Given the description of an element on the screen output the (x, y) to click on. 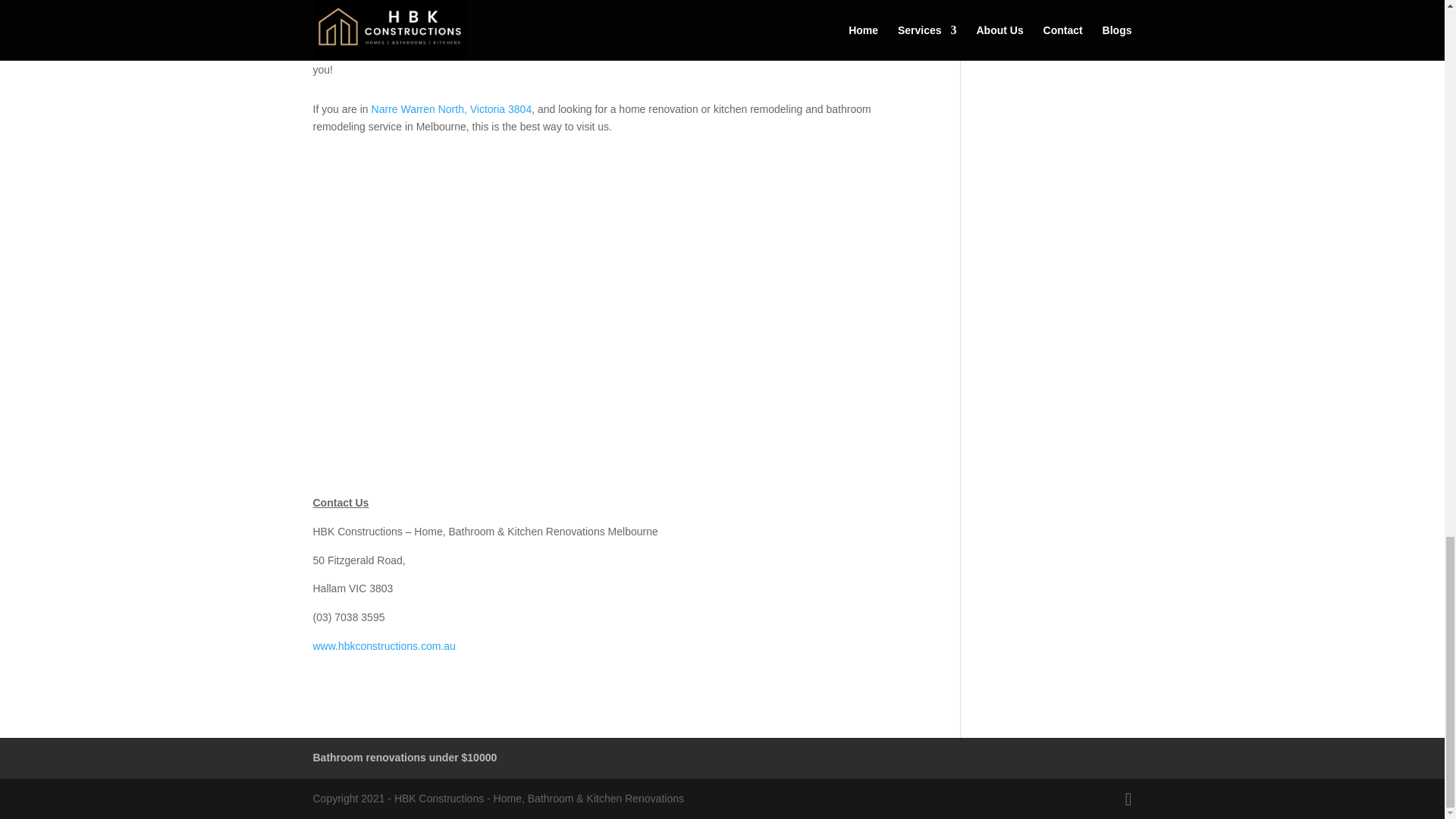
Narre Warren North, Victoria 3804 (451, 109)
www.hbkconstructions.com.au (383, 645)
HBK Constructions (840, 33)
